Given the description of an element on the screen output the (x, y) to click on. 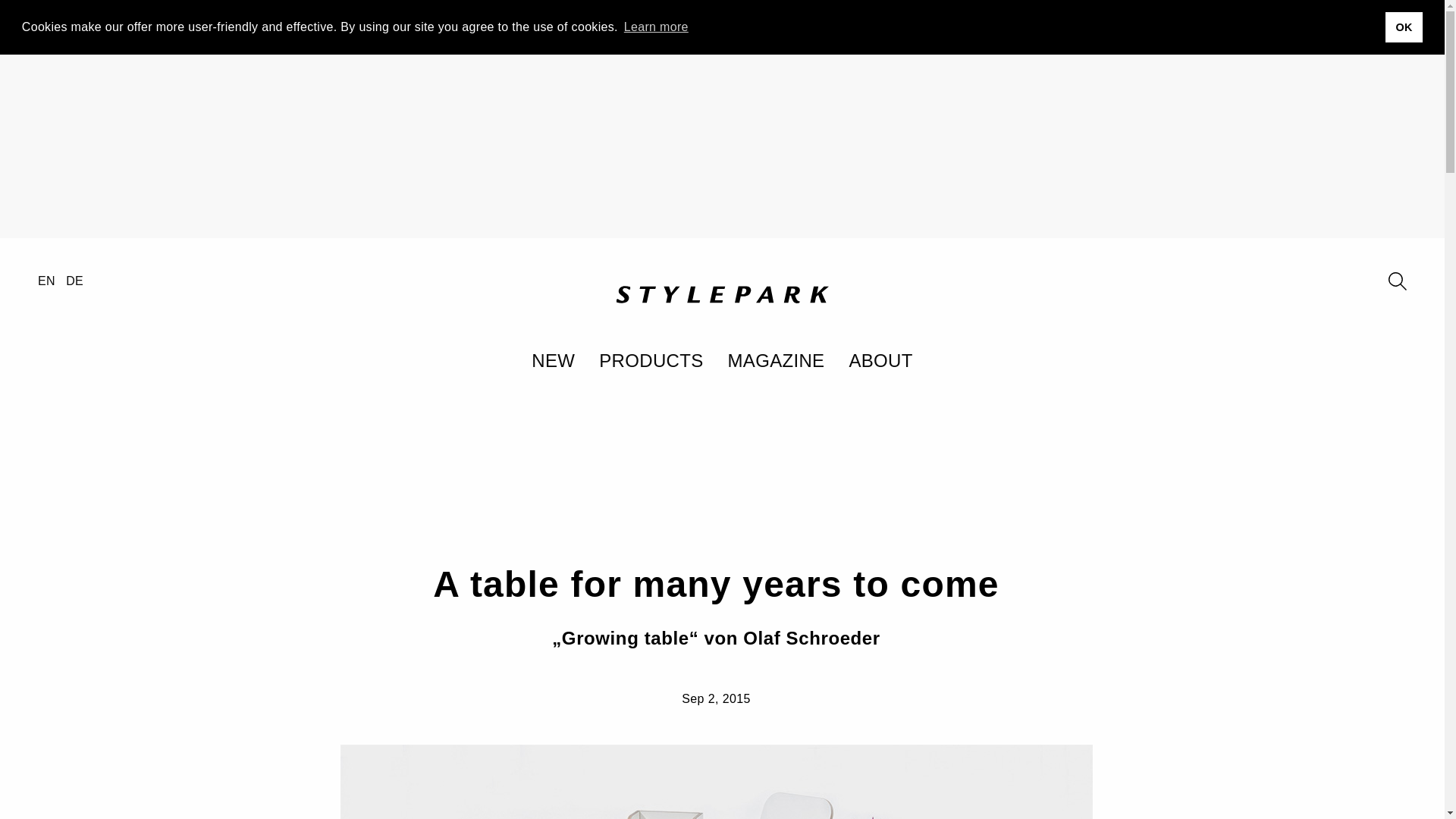
stylepark-logo (721, 293)
NEW (552, 360)
MAGAZINE (776, 360)
Learn more (655, 26)
stylepark-logo (721, 296)
search (1397, 280)
ABOUT (879, 360)
search (1397, 280)
DE (73, 280)
